Given the description of an element on the screen output the (x, y) to click on. 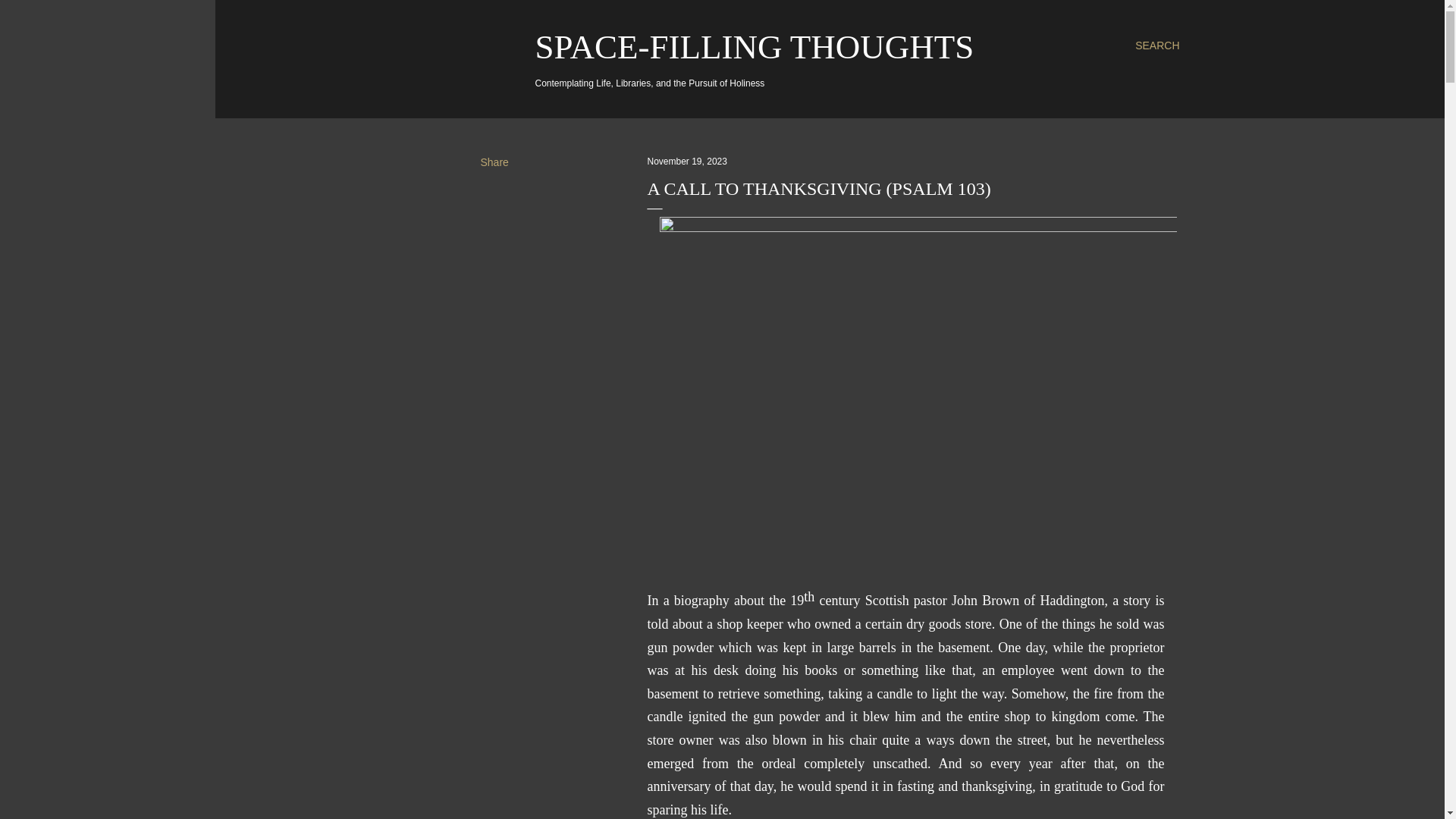
permanent link (686, 161)
SEARCH (1157, 45)
Share (494, 162)
November 19, 2023 (686, 161)
SPACE-FILLING THOUGHTS (754, 46)
